Given the description of an element on the screen output the (x, y) to click on. 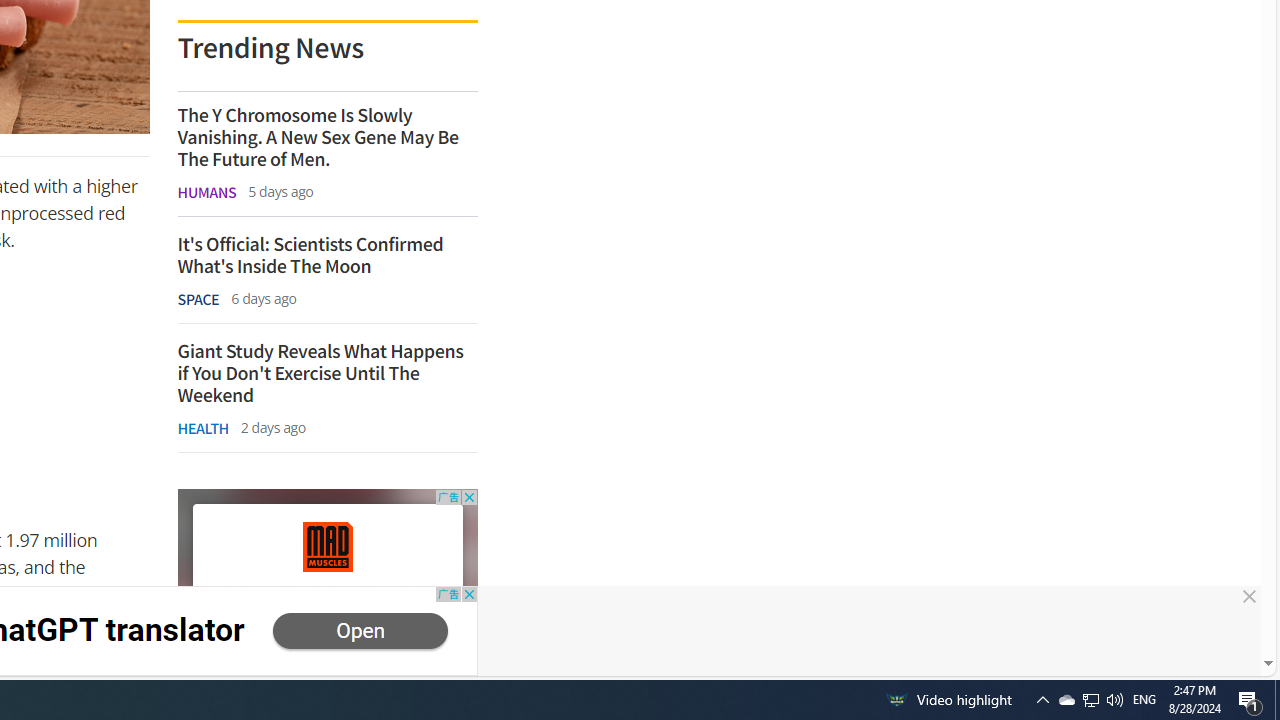
SPACE (198, 299)
HEALTH (202, 427)
It's Official: Scientists Confirmed What's Inside The Moon (326, 255)
HUMANS (206, 191)
